Given the description of an element on the screen output the (x, y) to click on. 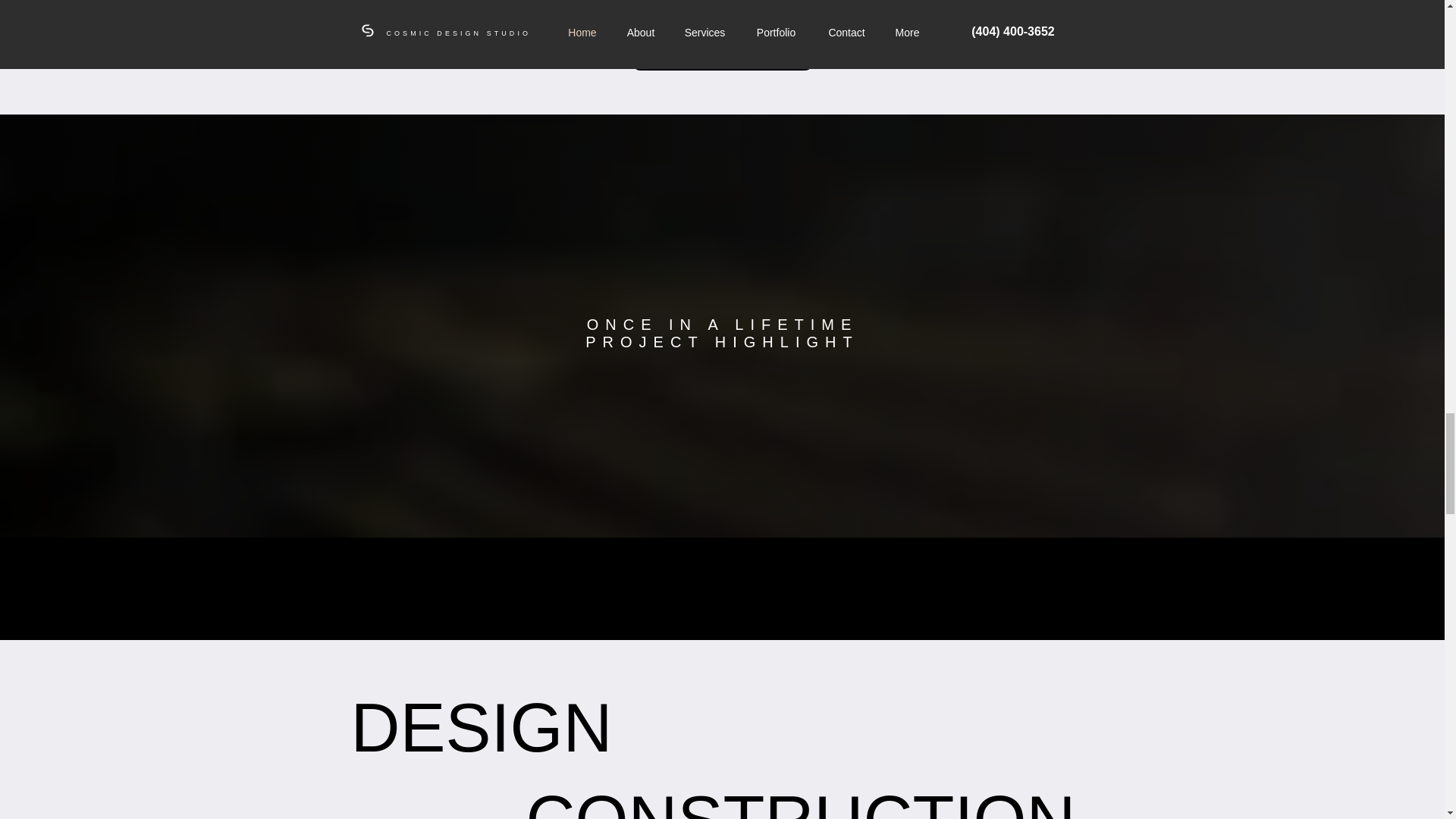
View Portfolio (721, 51)
